Given the description of an element on the screen output the (x, y) to click on. 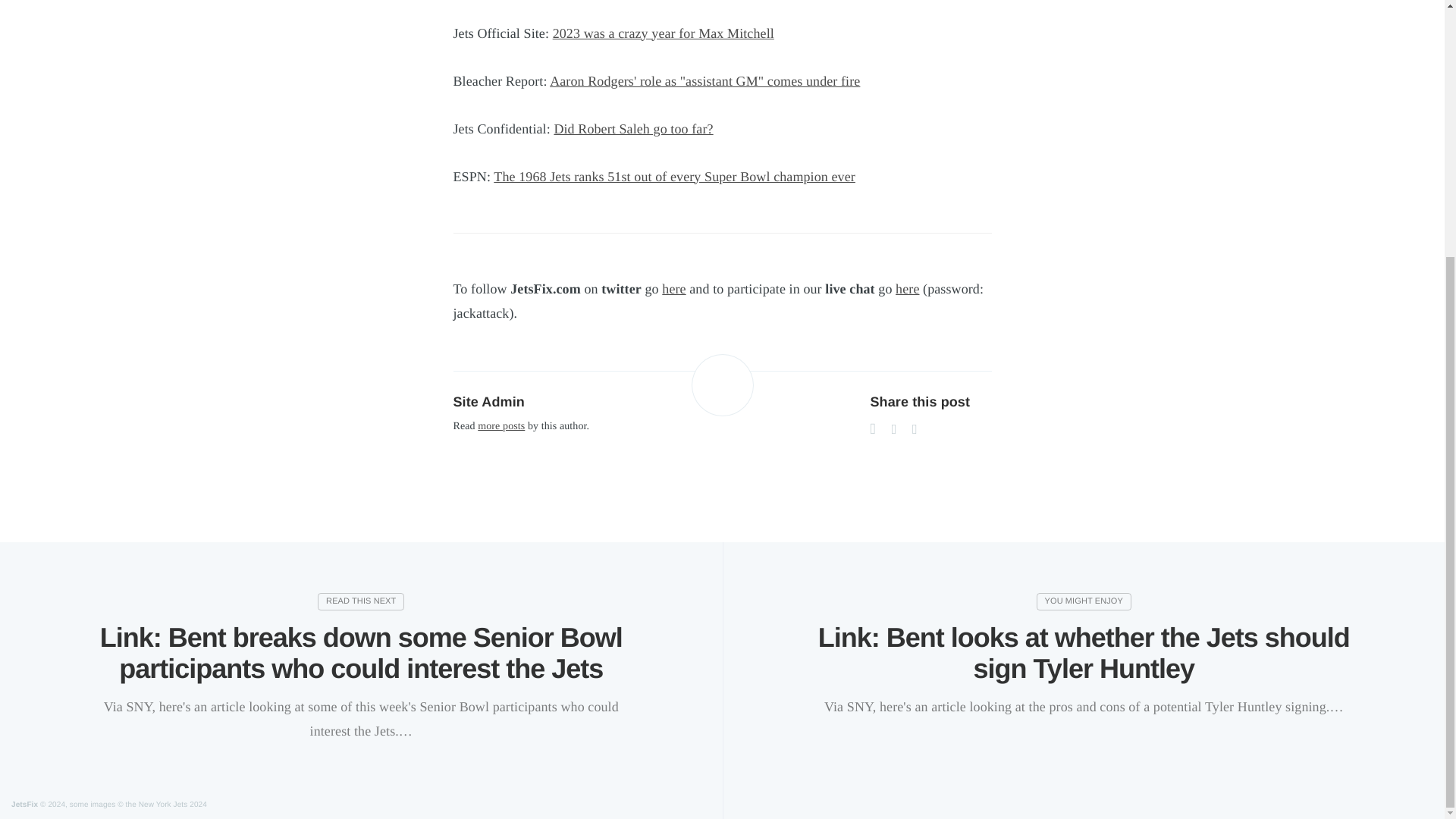
2023 was a crazy year for Max Mitchell (663, 32)
Site Admin (488, 401)
Did Robert Saleh go too far? (633, 128)
JetsFix (24, 804)
here (673, 288)
Aaron Rodgers' role as "assistant GM" comes under fire (705, 80)
more posts (500, 426)
here (906, 288)
